Given the description of an element on the screen output the (x, y) to click on. 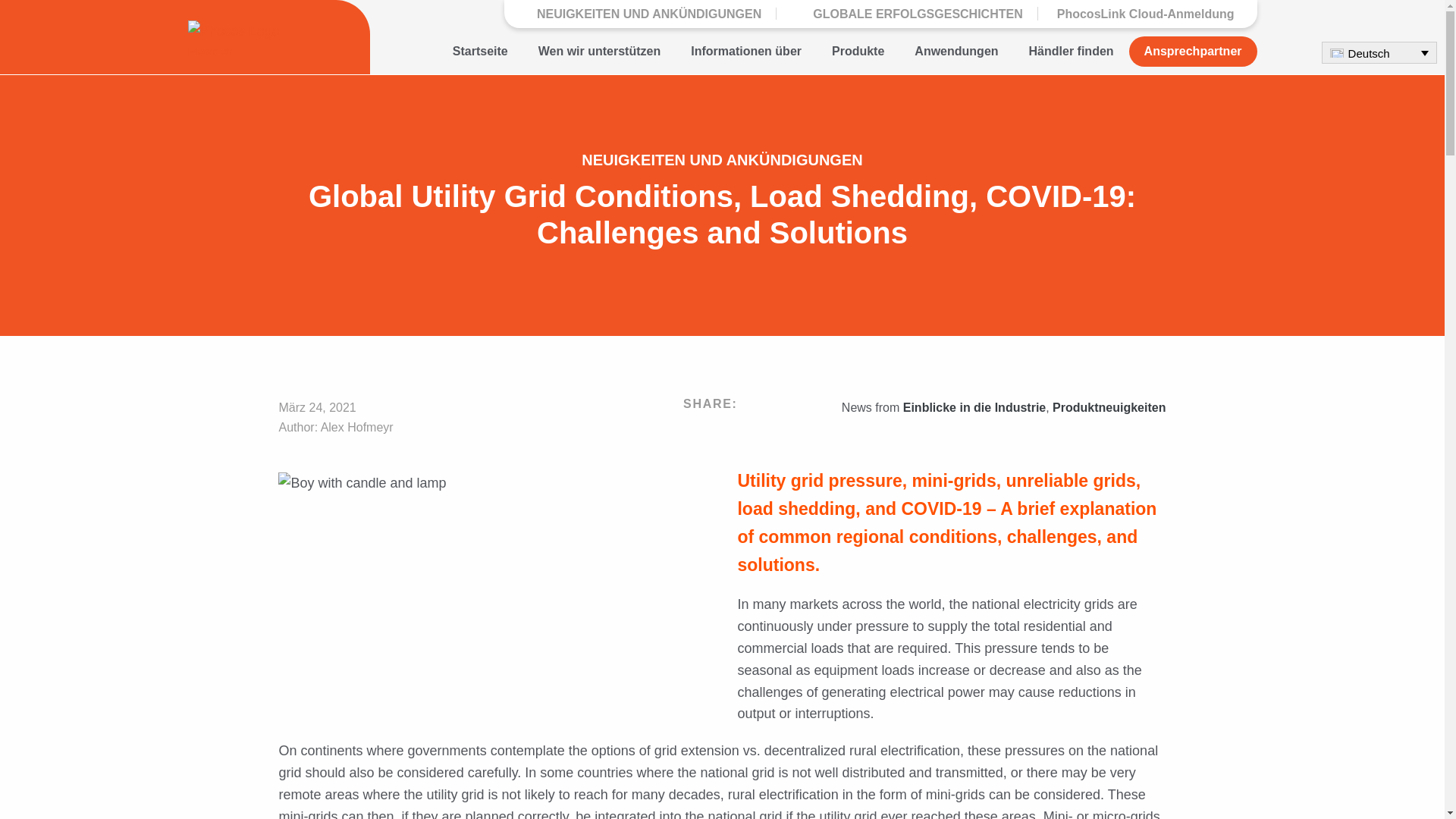
Deutsch (1379, 52)
Startseite (480, 51)
Produkte (857, 51)
GLOBALE ERFOLGSGESCHICHTEN (908, 12)
